Given the description of an element on the screen output the (x, y) to click on. 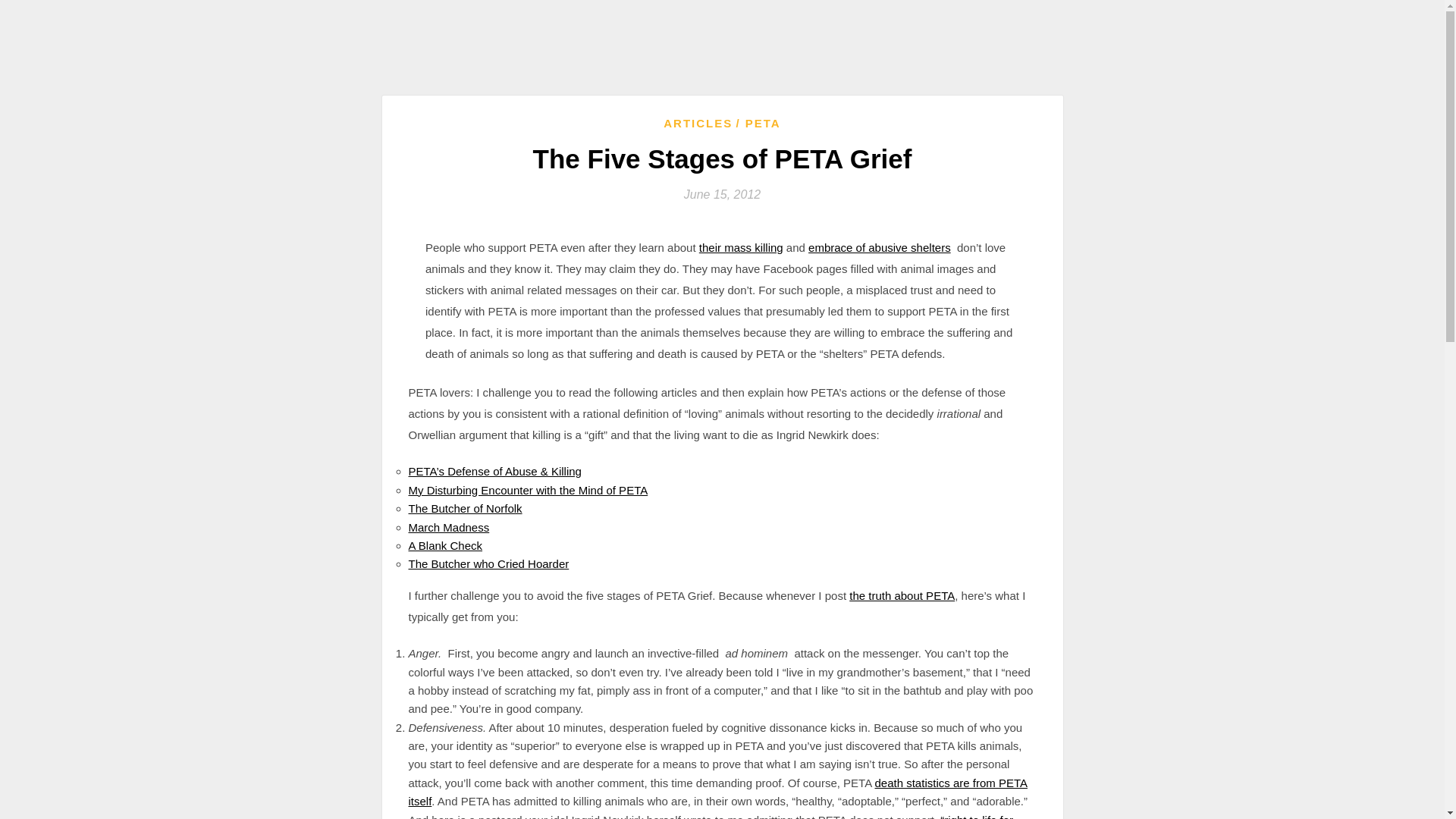
the truth about PETA (901, 594)
Search (31, 12)
The Butcher of Norfolk (464, 508)
ARTICLES (697, 123)
March Madness (448, 526)
June 15, 2012 (722, 194)
their mass killing (740, 246)
A Blank Check (444, 545)
embrace of abusive shelters (879, 246)
My Disturbing Encounter with the Mind of PETA (527, 490)
My Disturbing Encounter with the Mind of PETA (527, 490)
The Butcher who Cried Hoarder (488, 563)
death statistics are from PETA itself (716, 791)
PETA (757, 123)
